Given the description of an element on the screen output the (x, y) to click on. 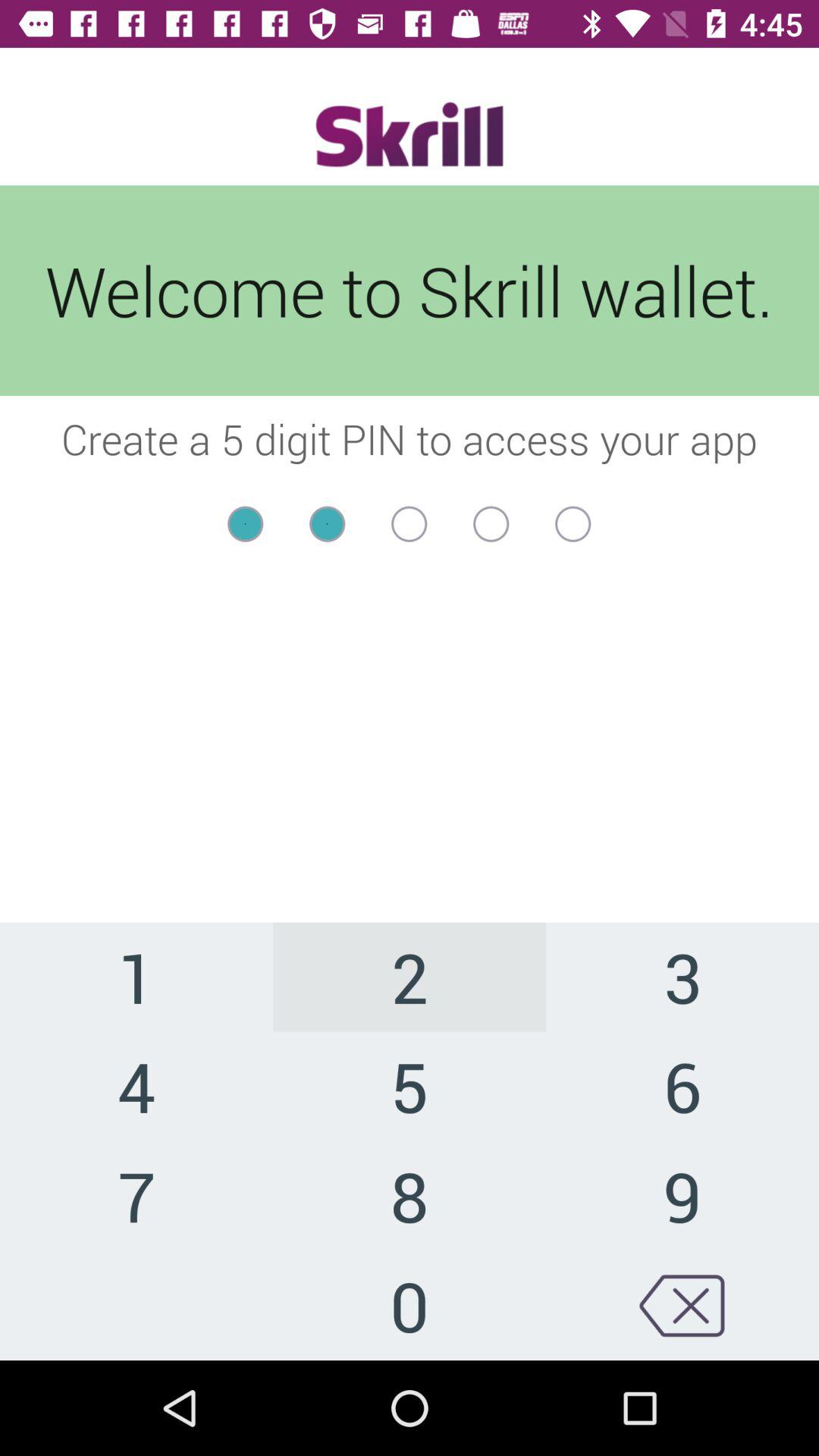
launch icon next to 9 icon (409, 1305)
